Given the description of an element on the screen output the (x, y) to click on. 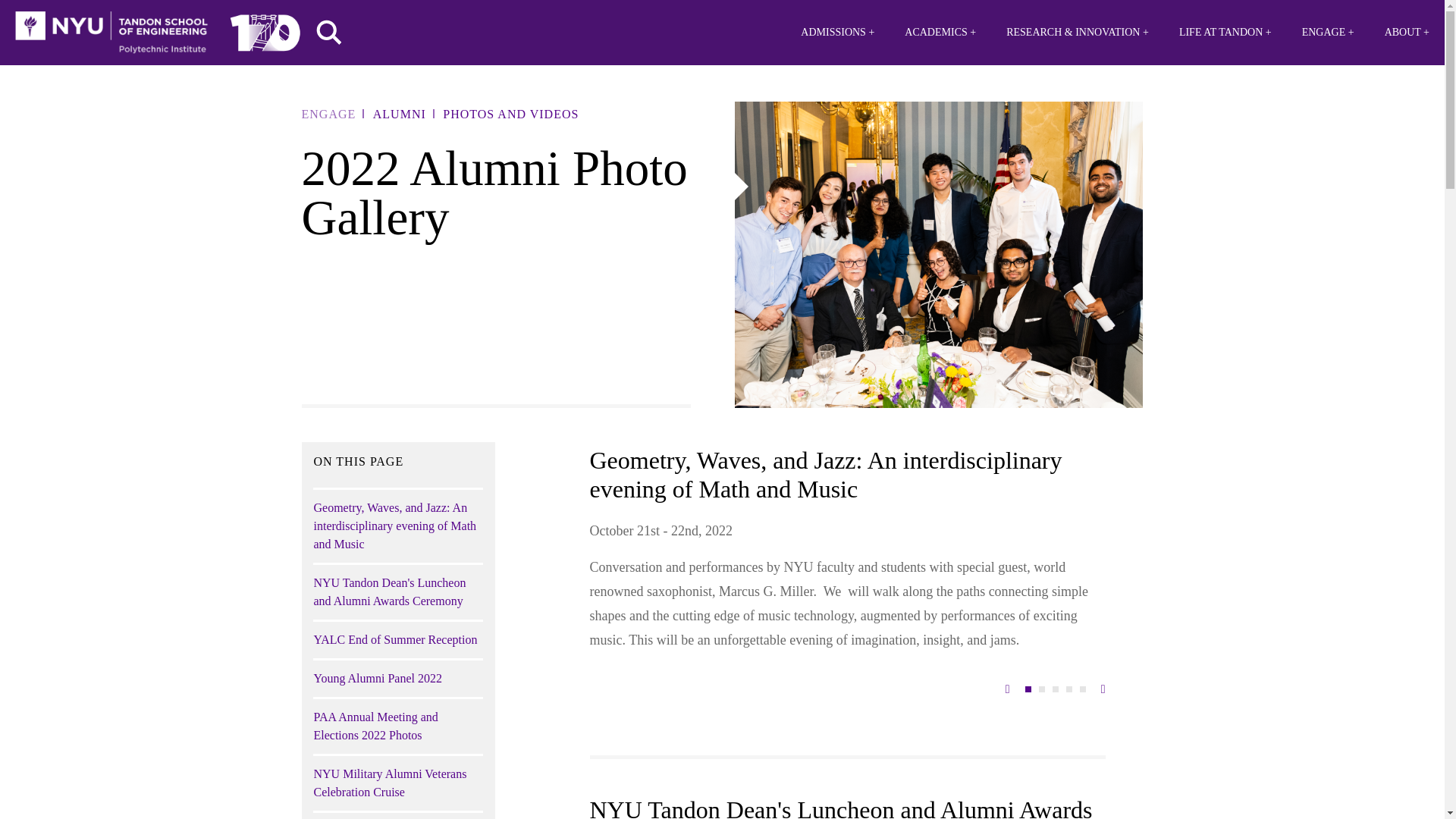
NYU Tandon Anniversary (264, 29)
NYU Tandon School of Engineering - Polytechnic Institute (111, 32)
NYU Tandon Logo (111, 32)
